Given the description of an element on the screen output the (x, y) to click on. 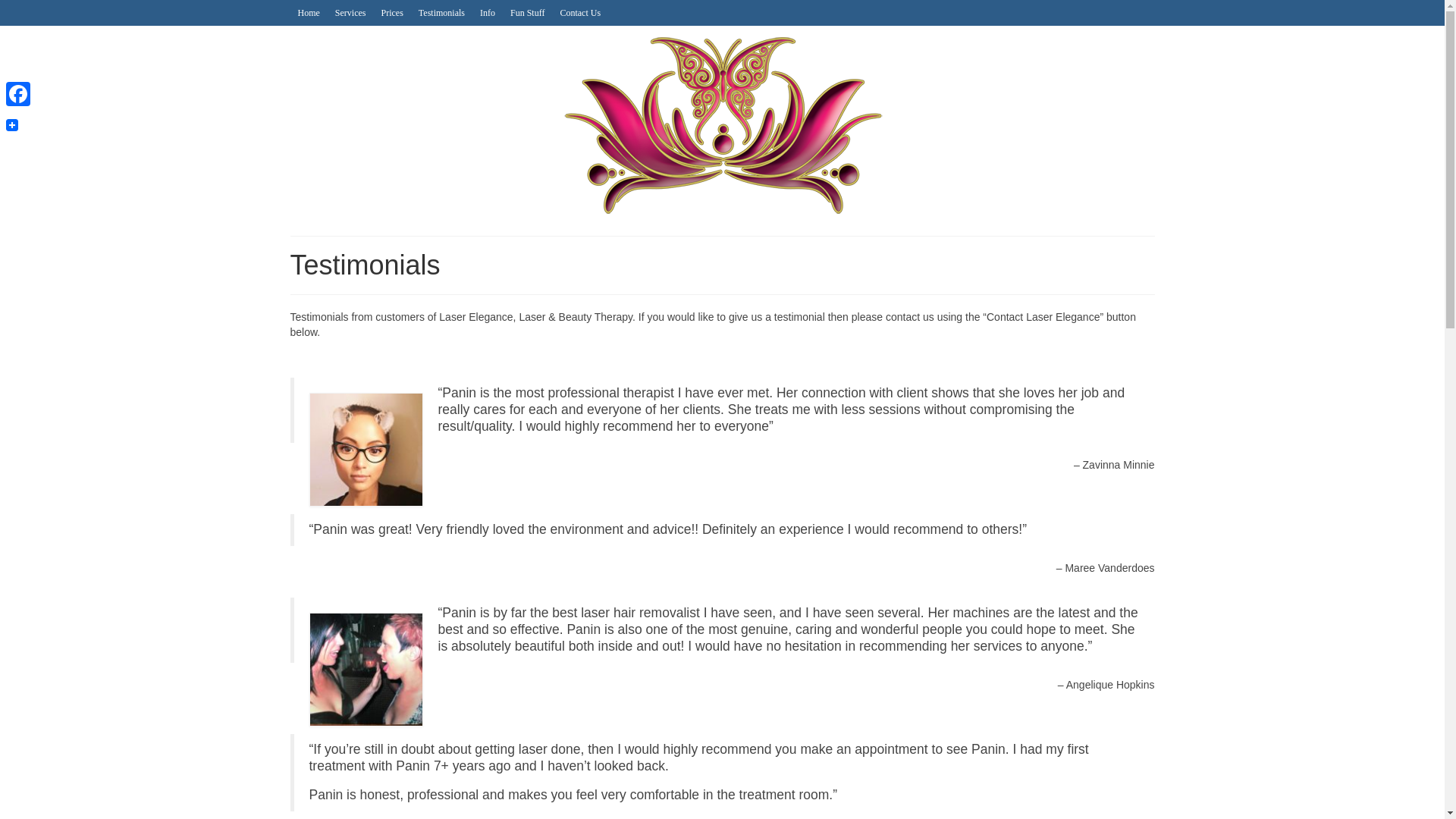
Contact Us (579, 12)
Info (486, 12)
Facebook (17, 93)
Fun Stuff (526, 12)
Prices (391, 12)
Services (350, 12)
Home (307, 12)
Testimonials (440, 12)
